Given the description of an element on the screen output the (x, y) to click on. 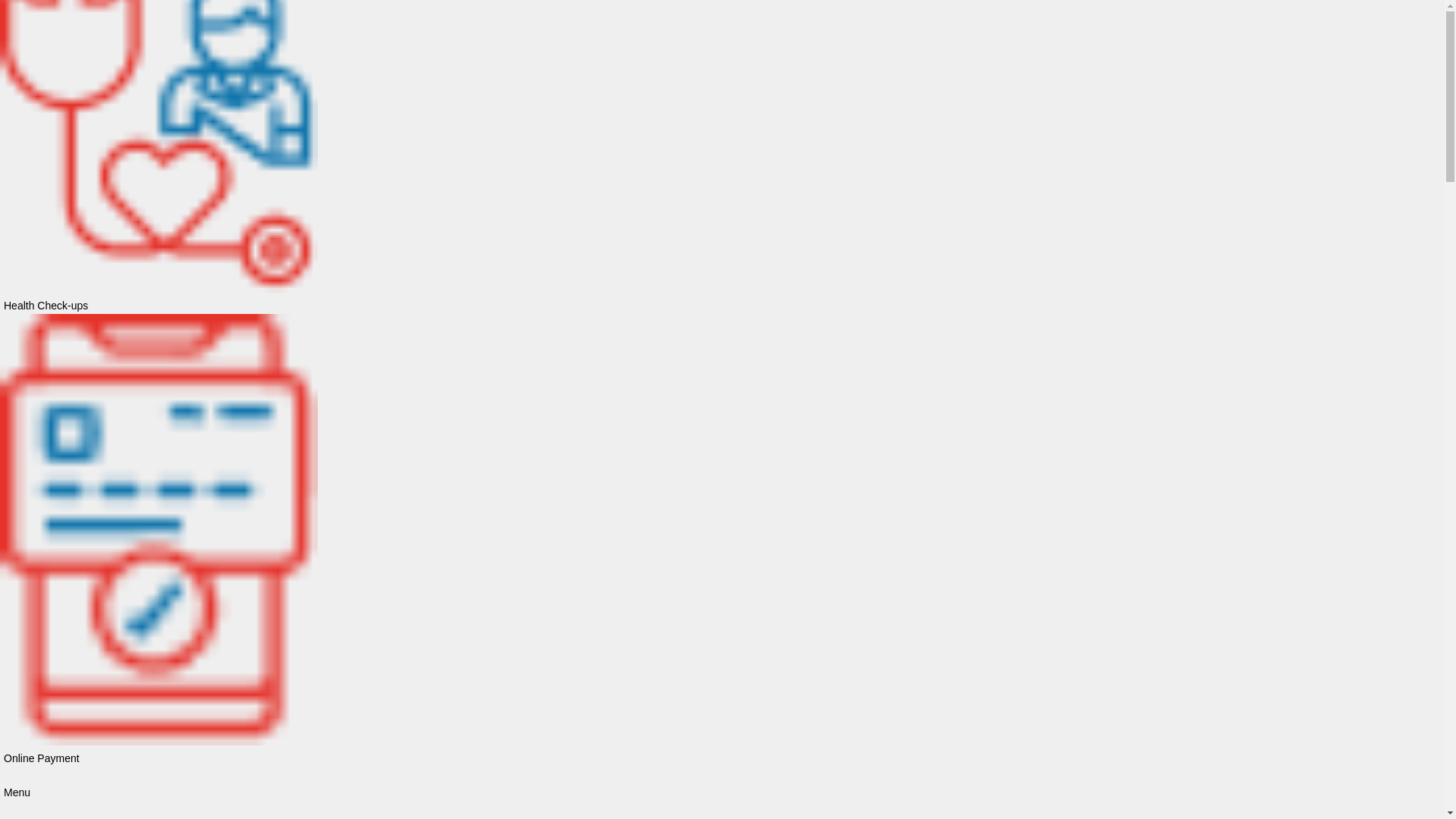
Home (305, 95)
Articles (354, 95)
Our Hospitals (43, 114)
General Health (429, 95)
Clinical Excellence (328, 114)
Find a Doctor (229, 114)
Specialities (136, 114)
